Given the description of an element on the screen output the (x, y) to click on. 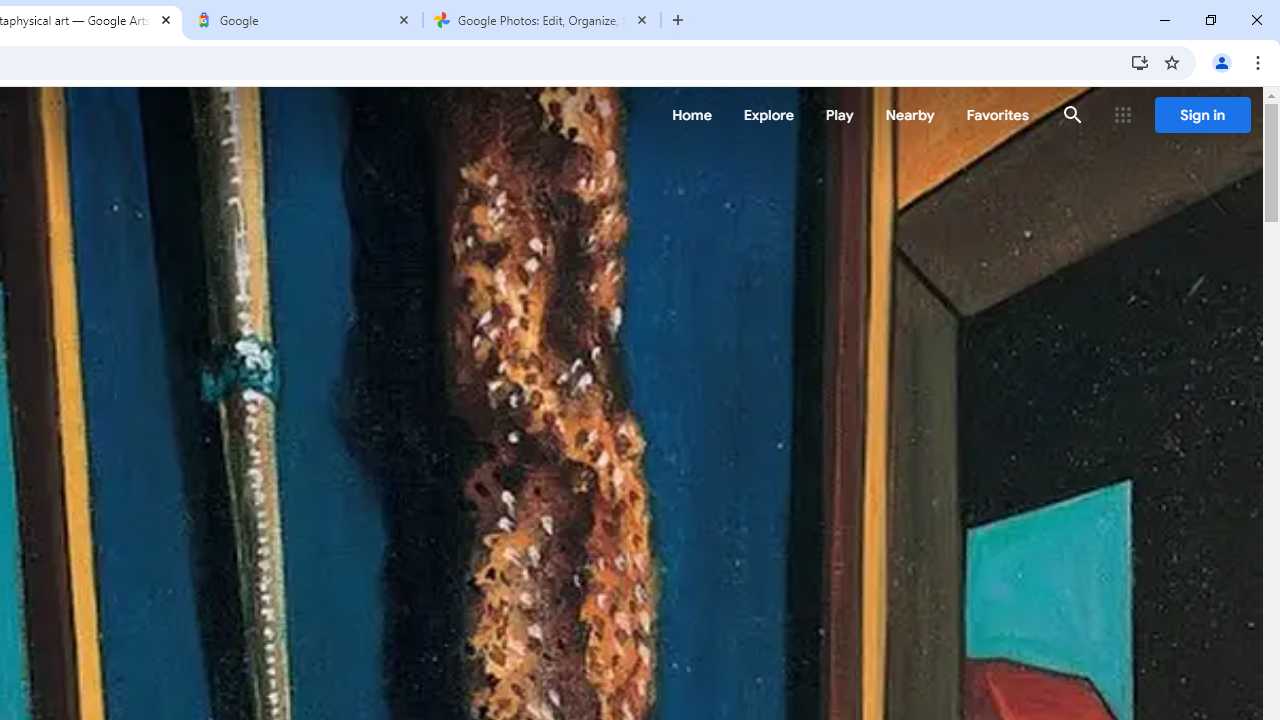
Nearby (910, 115)
Home (691, 115)
Favorites (996, 115)
Play (840, 115)
